Given the description of an element on the screen output the (x, y) to click on. 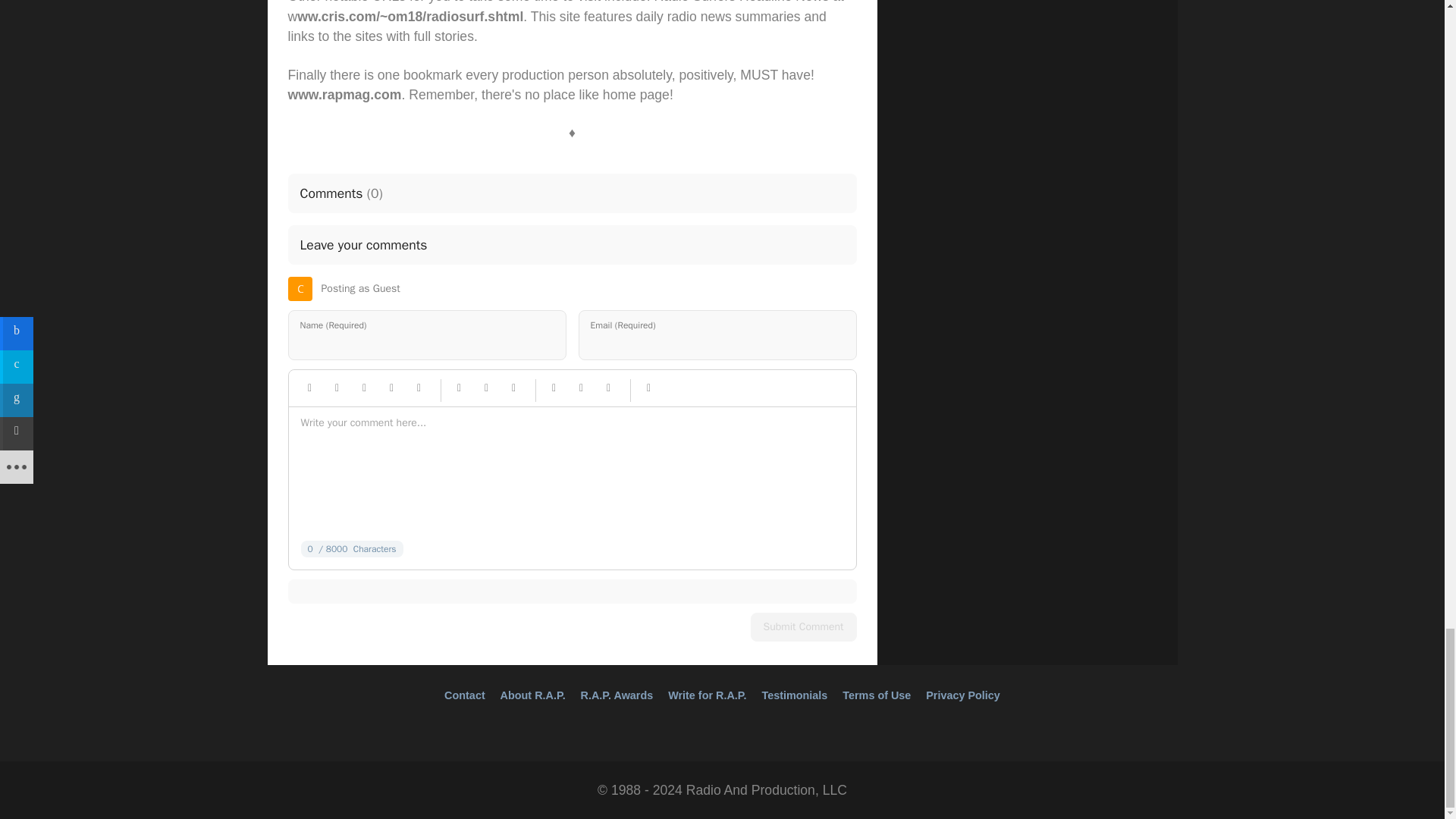
Video (513, 388)
Bullet List (553, 388)
Quote (390, 388)
Bold (308, 388)
Picture (486, 388)
Link (458, 388)
Underline (363, 388)
Numeric List (580, 388)
Italic (336, 388)
Emoji (418, 388)
Submit Comment (804, 626)
Code (649, 388)
Bullet (607, 388)
